Given the description of an element on the screen output the (x, y) to click on. 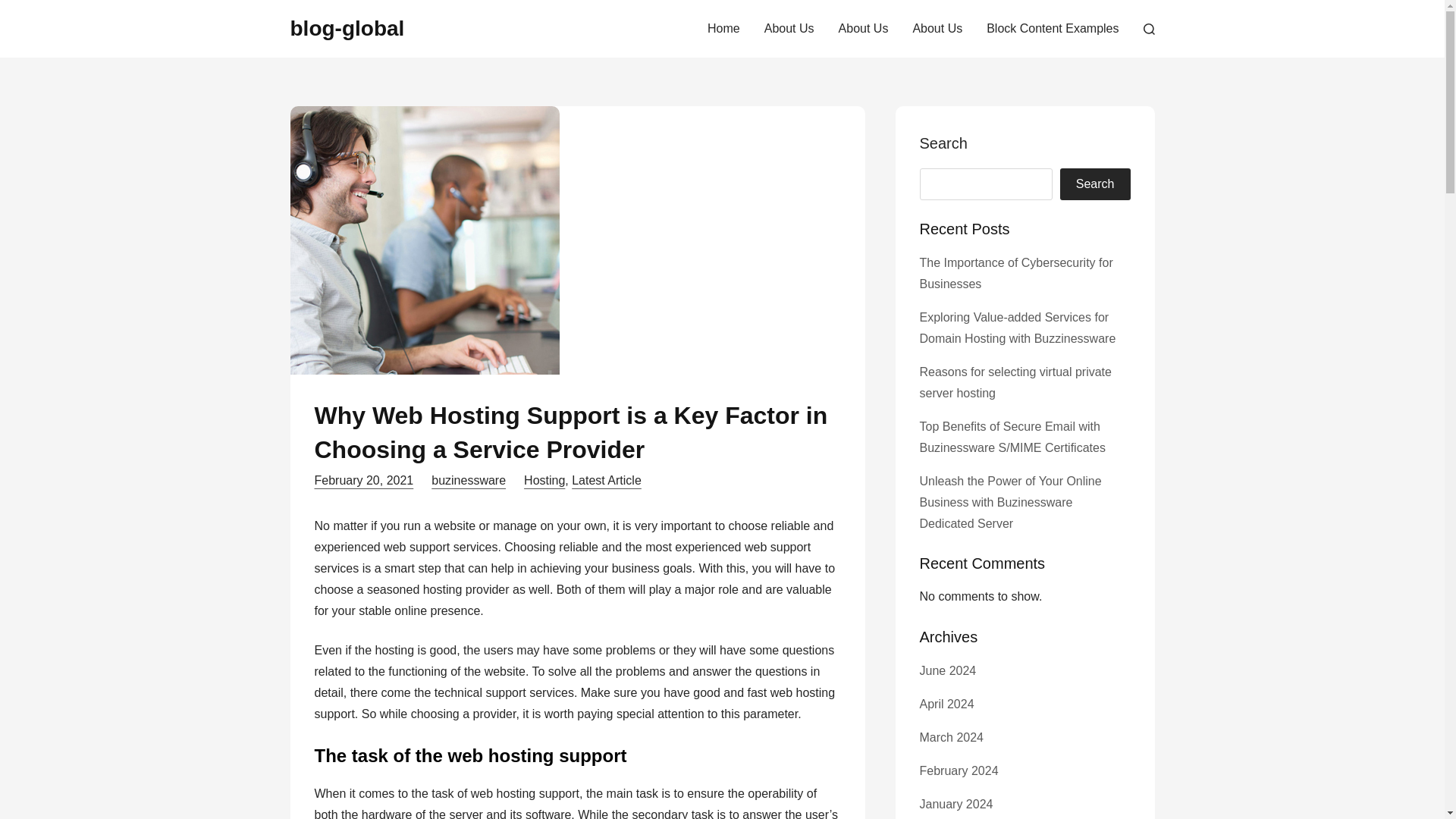
February 20, 2021 (363, 480)
Latest Article (607, 480)
Hosting (544, 480)
About Us (936, 28)
Search (1095, 183)
blog-global (346, 28)
The Importance of Cybersecurity for Businesses (1015, 273)
April 2024 (946, 703)
